Given the description of an element on the screen output the (x, y) to click on. 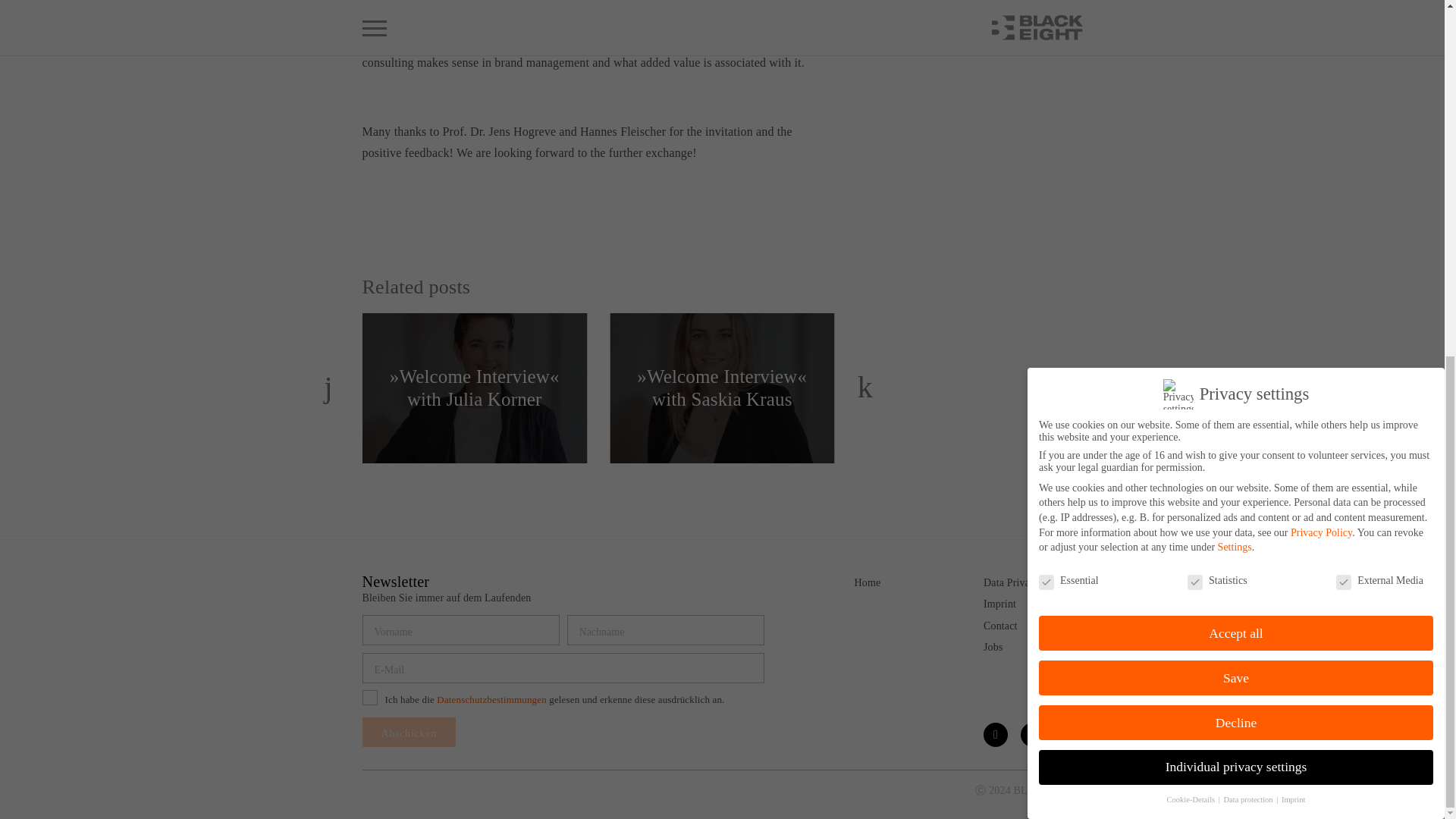
Imprint (1000, 603)
Datenschutzbestimmungen (491, 699)
Abschicken (408, 731)
Contact (1000, 625)
Home (866, 582)
Jobs (993, 646)
Data Privacy (1012, 582)
